Given the description of an element on the screen output the (x, y) to click on. 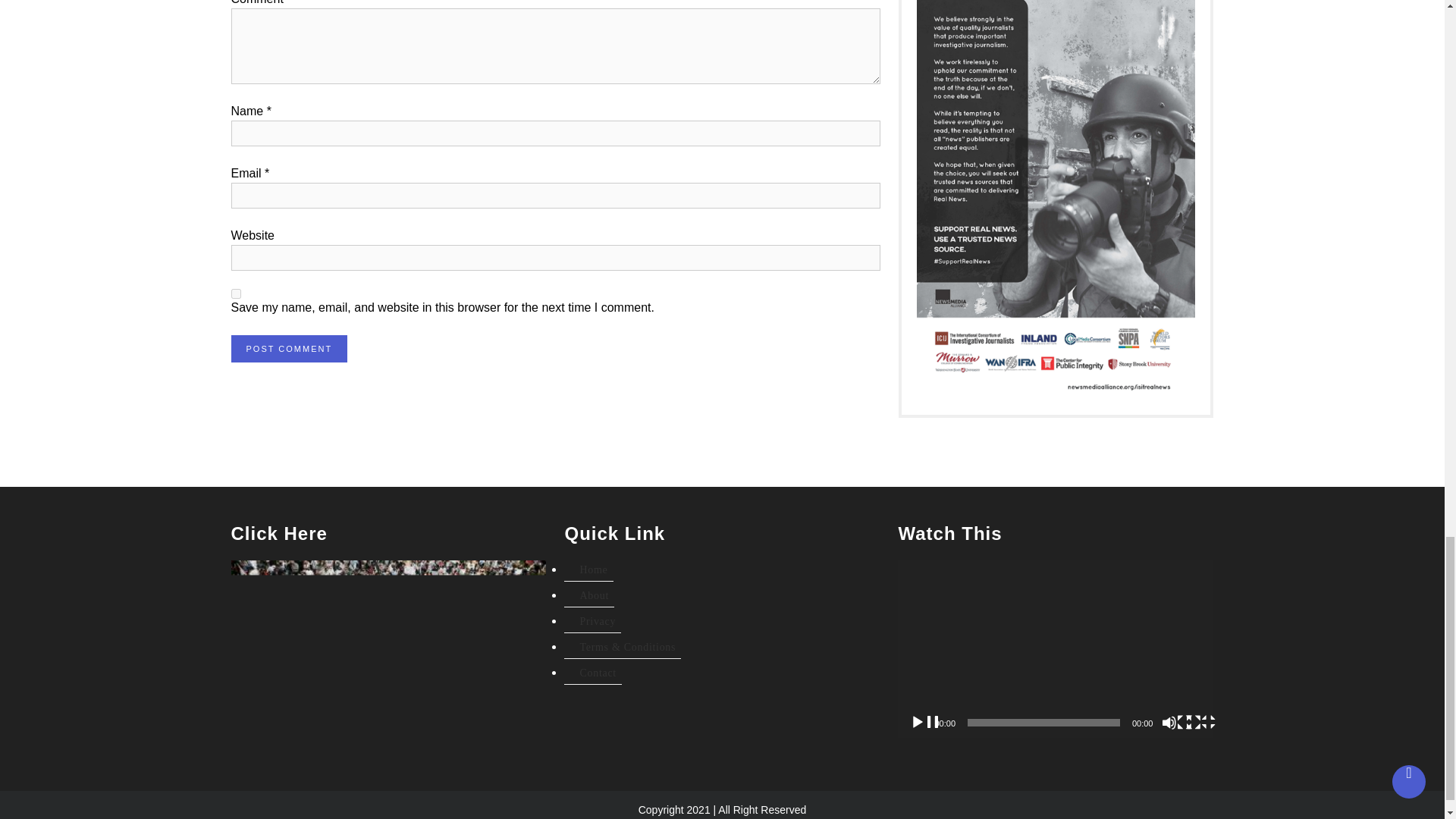
Fullscreen (1200, 722)
Post Comment (288, 348)
Post Comment (288, 348)
yes (235, 293)
Play (925, 722)
Mute (1176, 722)
